Given the description of an element on the screen output the (x, y) to click on. 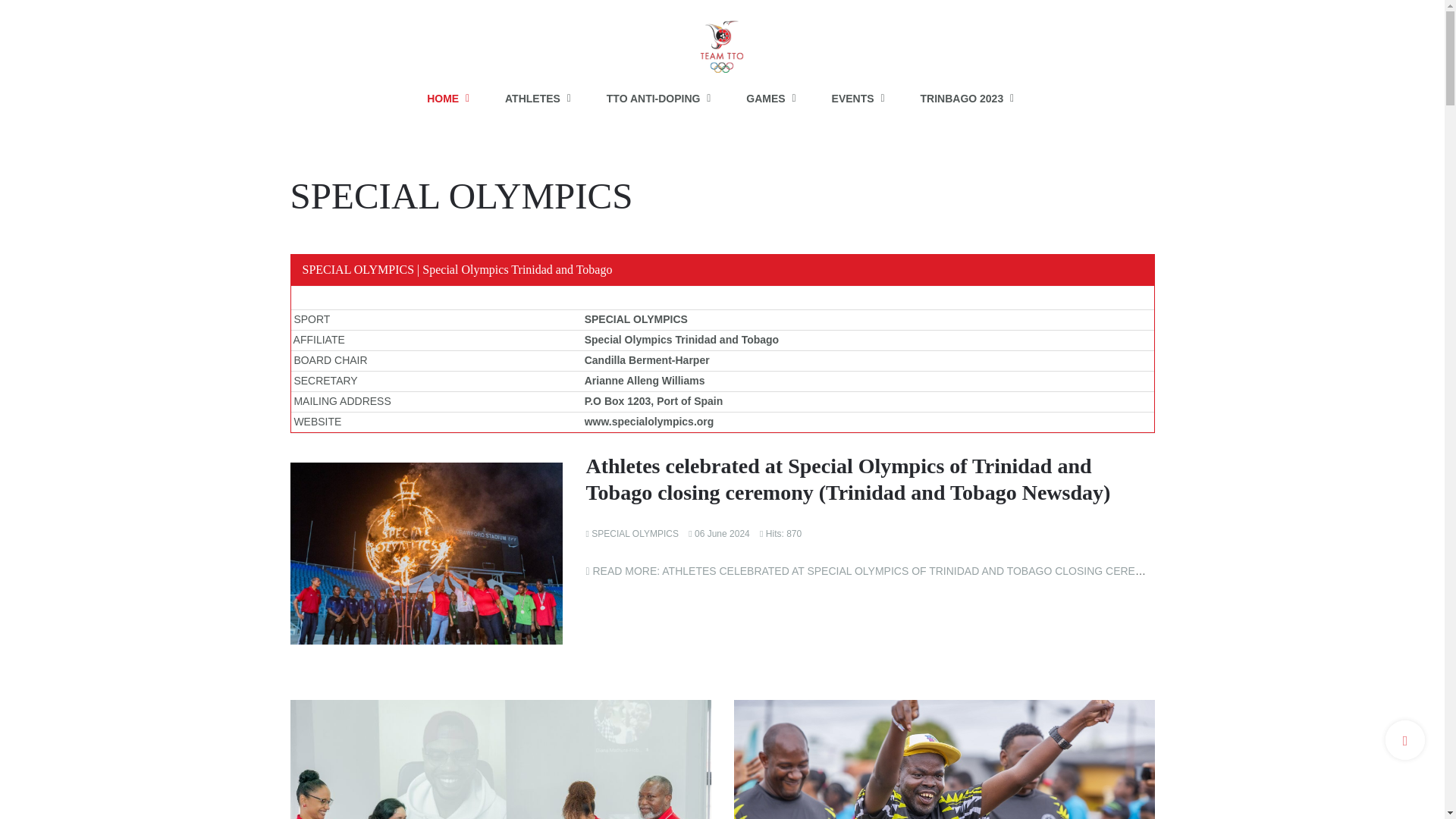
Team TTO (721, 38)
Published:  (718, 533)
Category:  (631, 533)
